Given the description of an element on the screen output the (x, y) to click on. 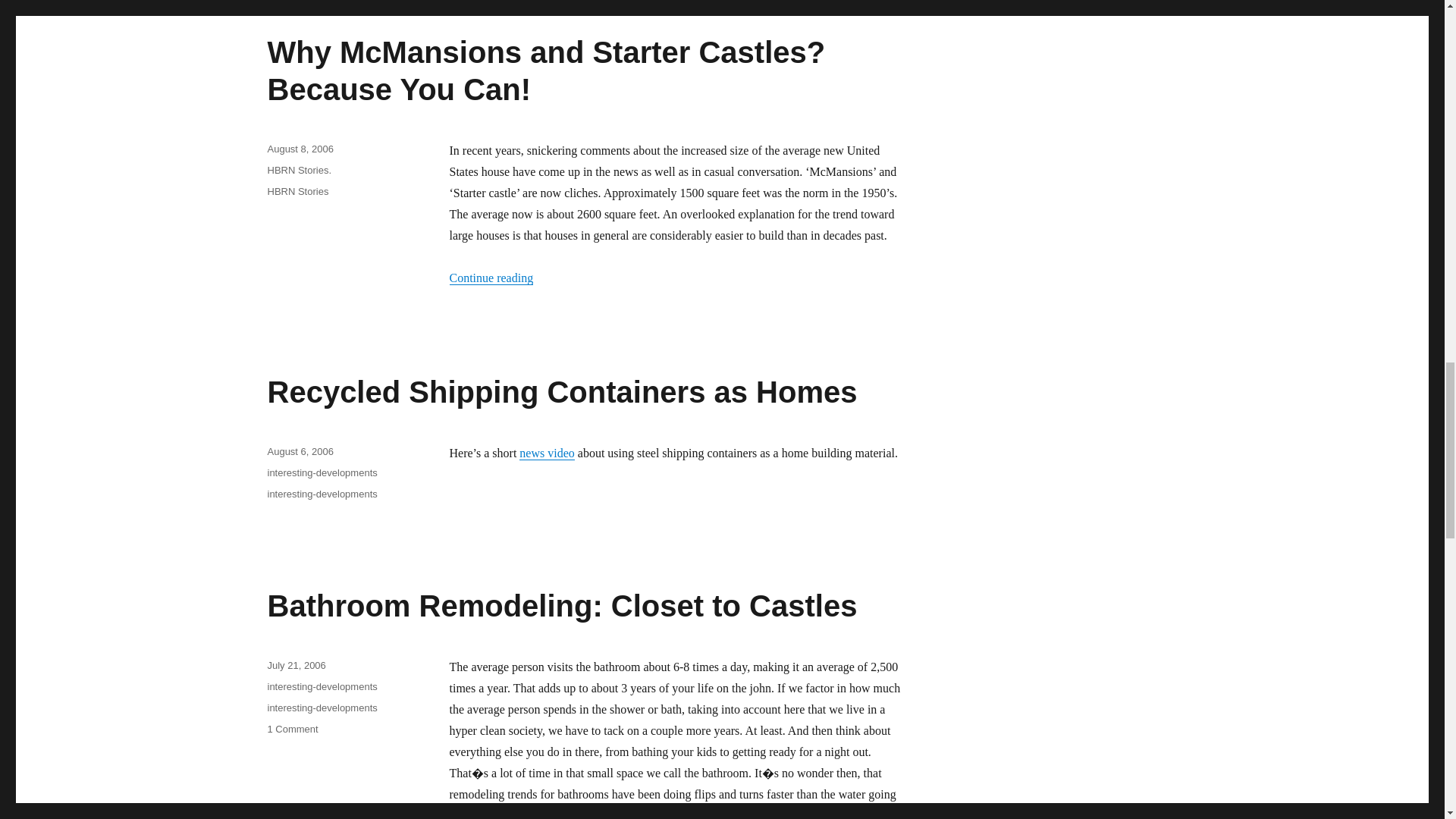
Why McMansions and Starter Castles? Because You Can! (545, 71)
interesting-developments (321, 472)
August 8, 2006 (299, 148)
news video (546, 452)
HBRN Stories (297, 191)
HBRN Stories. (298, 170)
August 6, 2006 (299, 451)
Recycled Shipping Containers as Homes (561, 391)
